Given the description of an element on the screen output the (x, y) to click on. 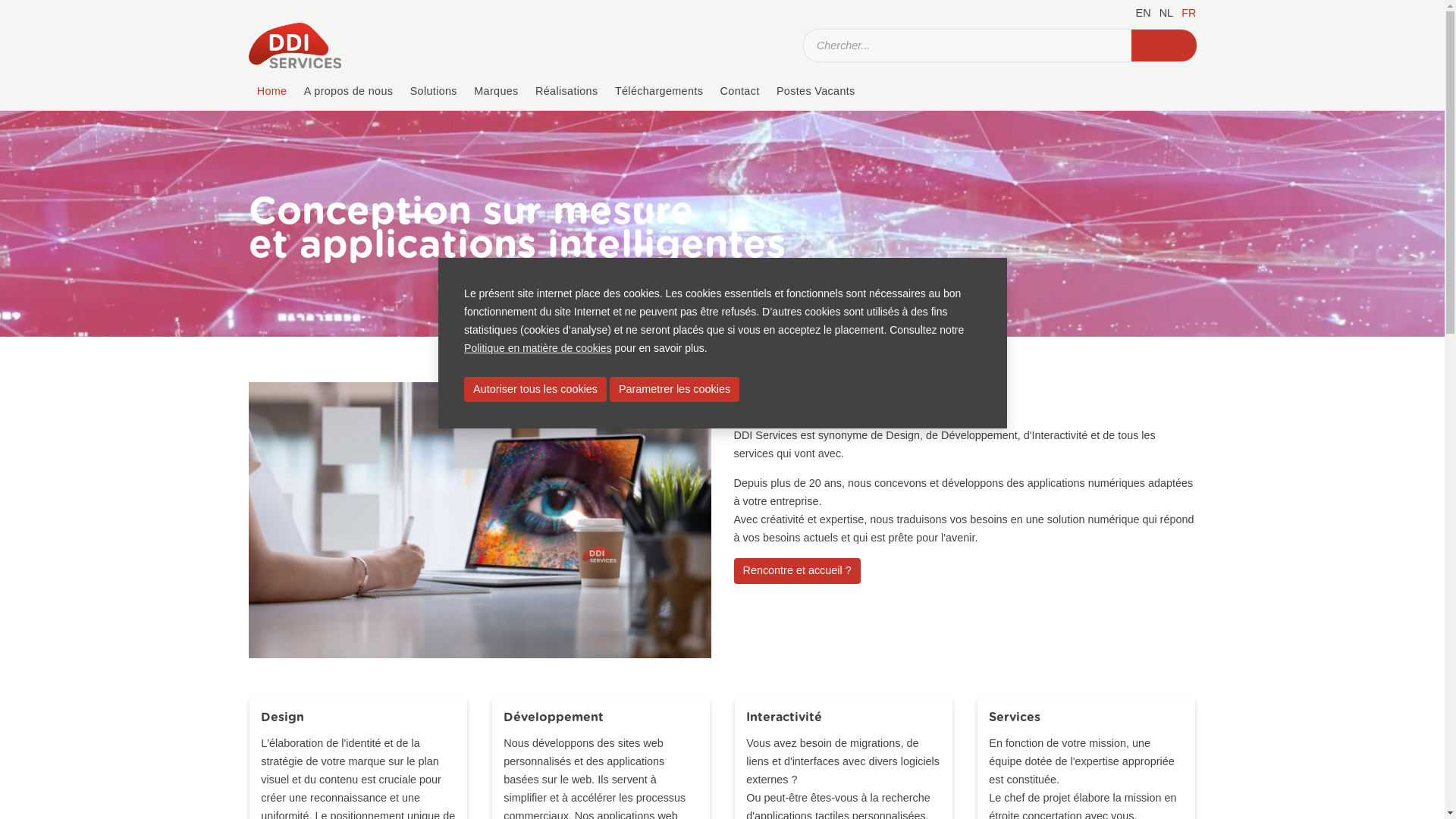
Contact Element type: text (739, 91)
Rencontre et accueil ? Element type: text (797, 570)
Solutions Element type: text (433, 91)
Autoriser tous les cookies Element type: text (535, 389)
A propos de nous Element type: text (348, 91)
Conception sur mesure Element type: text (470, 212)
Parametrer les cookies Element type: text (674, 389)
et applications intelligentes Element type: text (516, 245)
Marques Element type: text (496, 91)
Postes Vacants Element type: text (815, 91)
Home Element type: text (271, 91)
